Given the description of an element on the screen output the (x, y) to click on. 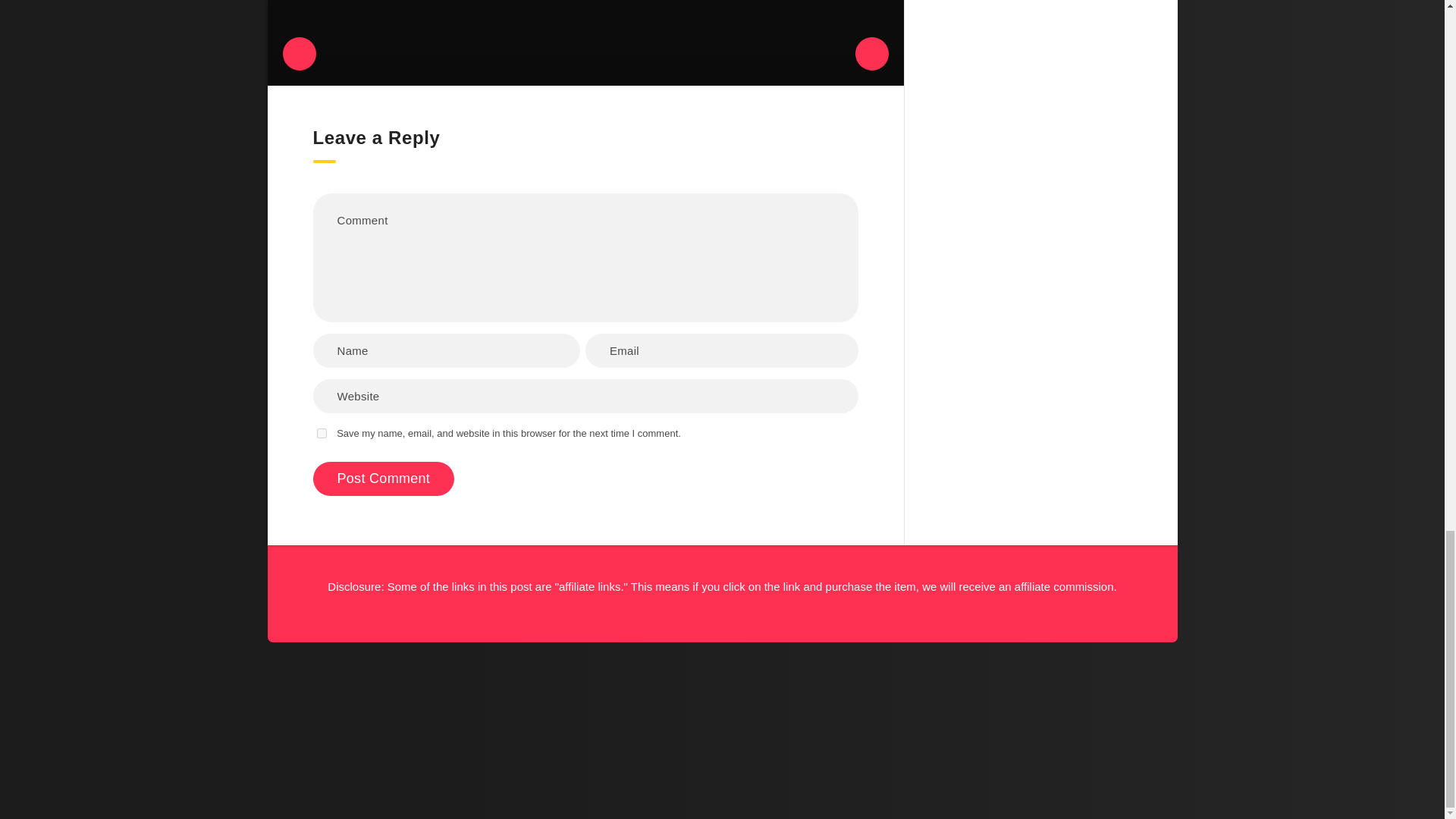
Post Comment (383, 478)
yes (321, 433)
Post Comment (383, 478)
